Given the description of an element on the screen output the (x, y) to click on. 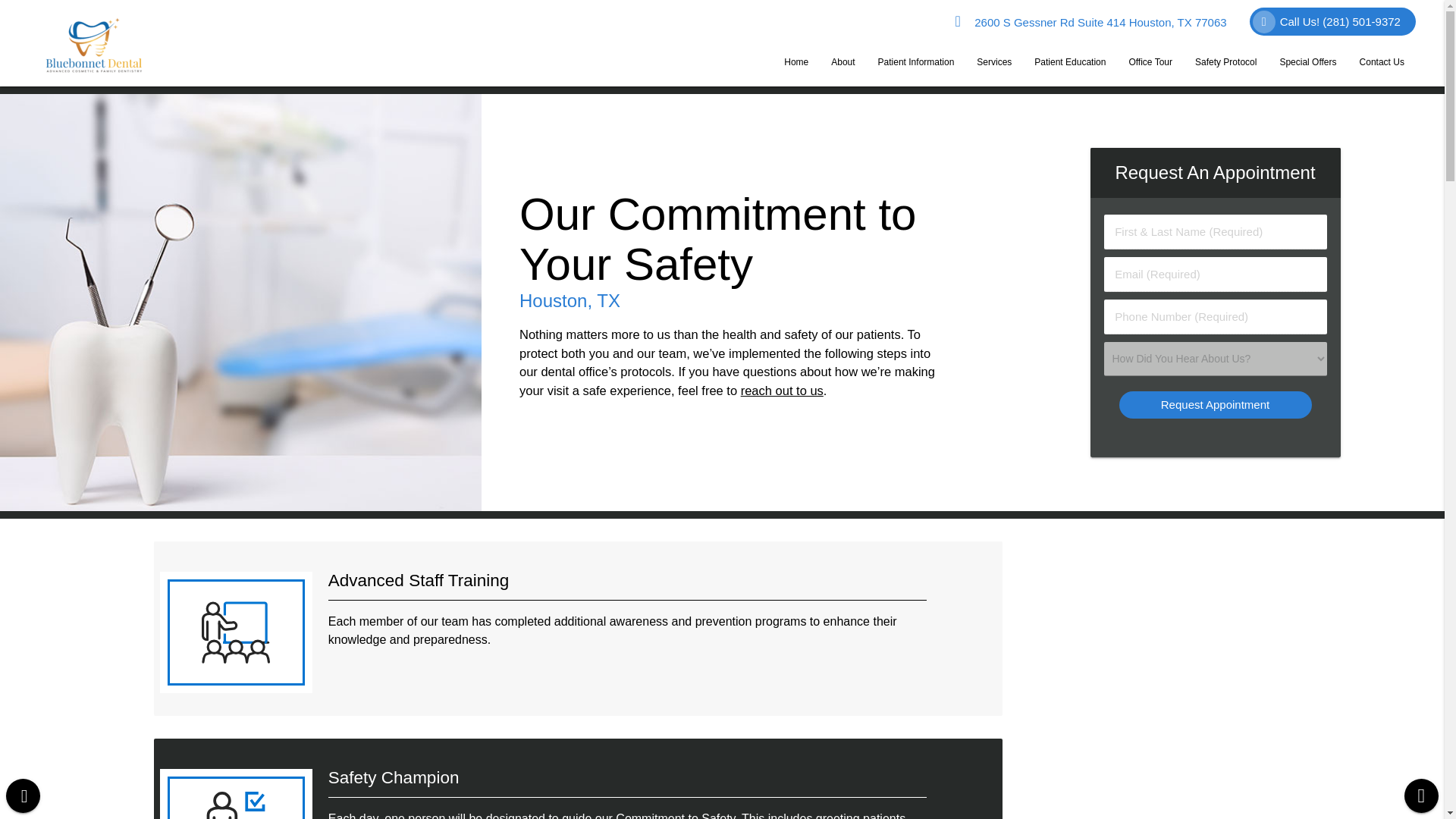
Patient Information (916, 61)
Request Appointment (1215, 404)
Visit our Home page (796, 61)
Services (994, 61)
Patient Education (1069, 61)
Home (796, 61)
  2600 S Gessner Rd Suite 414 Houston, TX 77063 (1090, 22)
About (842, 61)
Visit our About Our Practice page (842, 61)
Services Navigation (994, 61)
Directions to Bluebonnet Dental (1090, 22)
Visit our Patient Information page (916, 61)
